Given the description of an element on the screen output the (x, y) to click on. 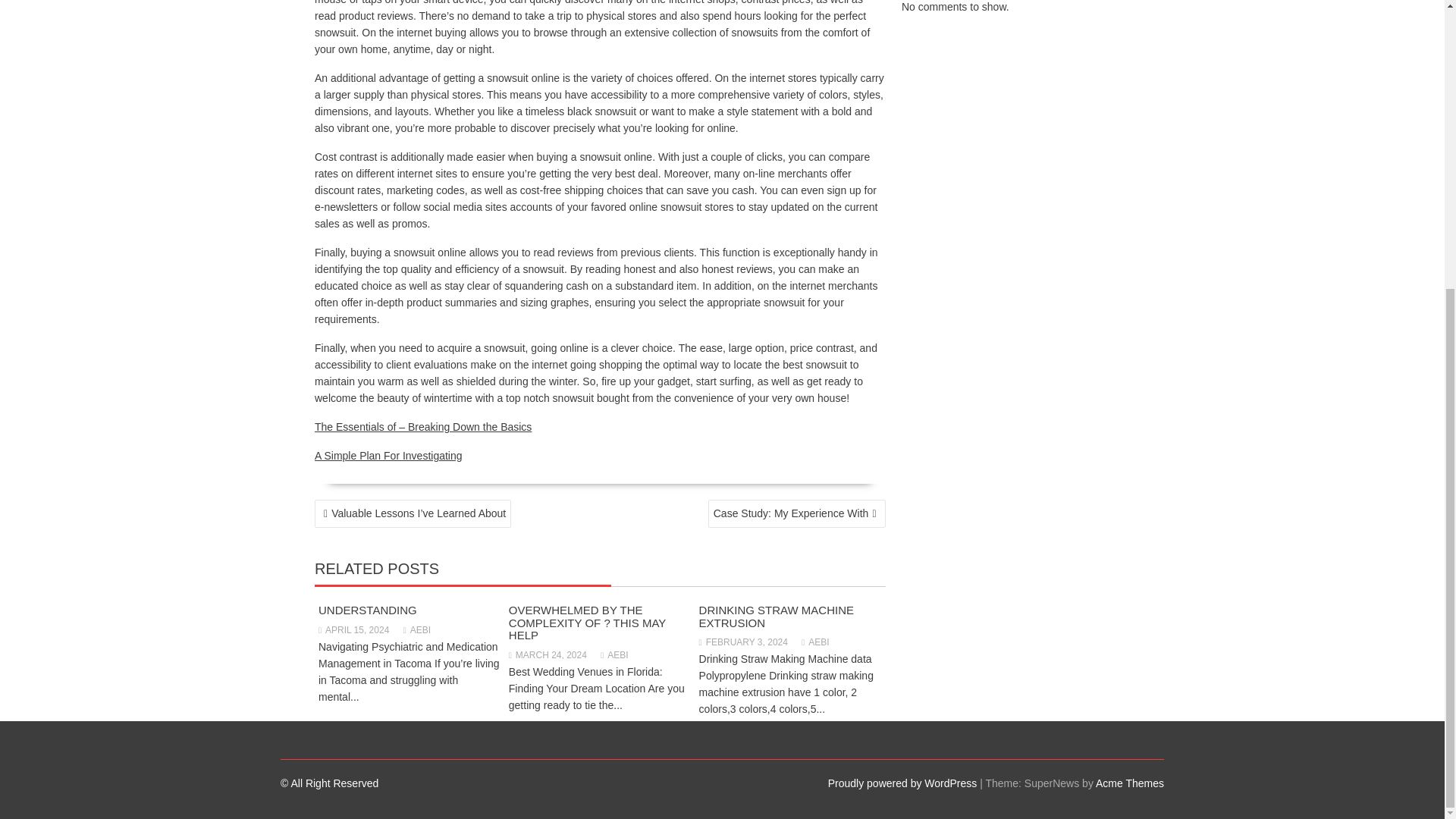
MARCH 24, 2024 (547, 655)
Acme Themes (1129, 783)
UNDERSTANDING (367, 609)
APRIL 15, 2024 (353, 629)
AEBI (416, 629)
Proudly powered by WordPress (902, 783)
FEBRUARY 3, 2024 (742, 642)
AEBI (613, 655)
AEBI (815, 642)
Case Study: My Experience With (796, 513)
